Given the description of an element on the screen output the (x, y) to click on. 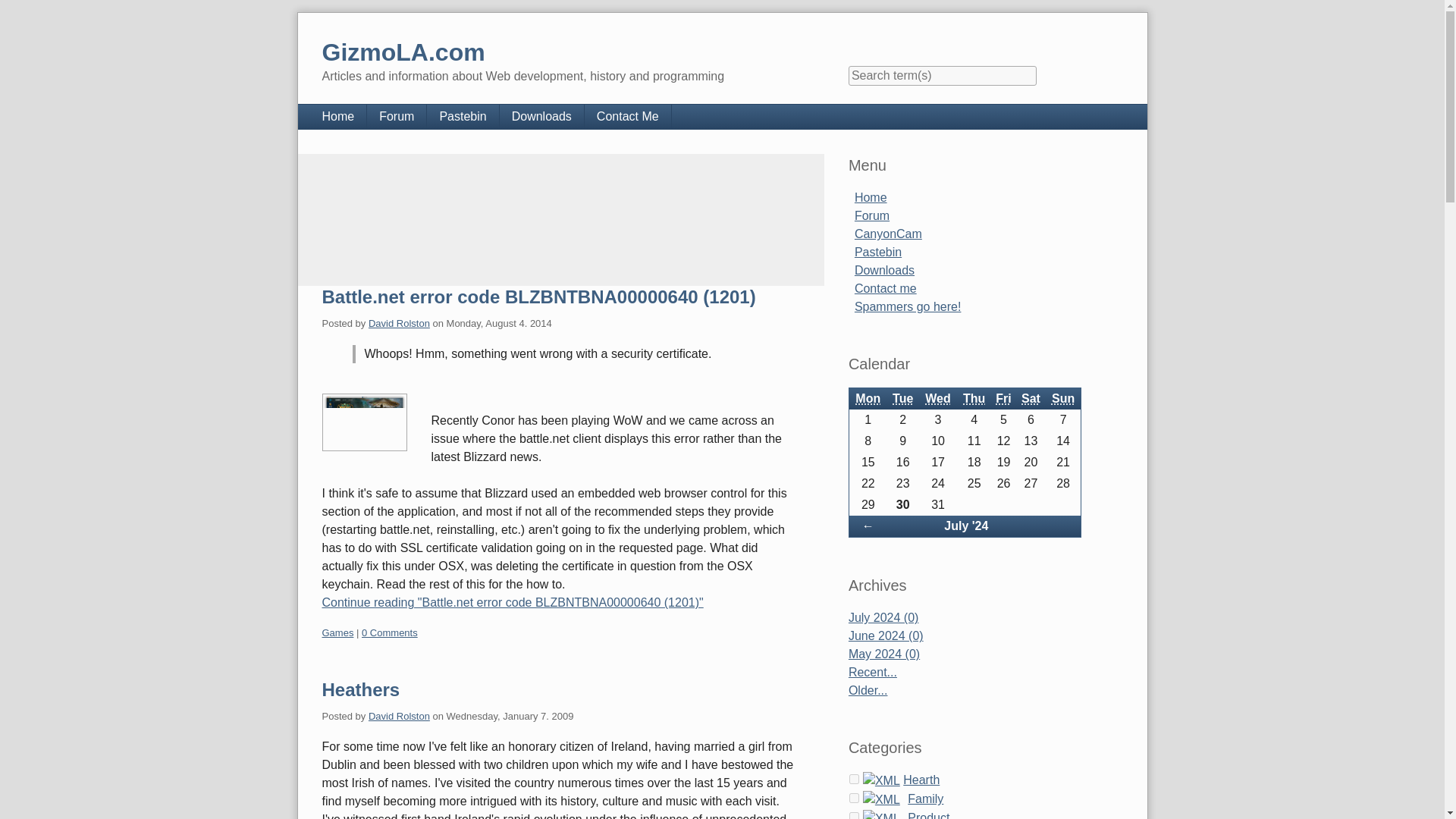
Heathers (359, 689)
0 Comments (389, 632)
Contact Me (628, 116)
David Rolston (398, 715)
Forum (396, 116)
5 (854, 798)
Games (337, 632)
Whoops! (363, 422)
David Rolston (398, 323)
2 (854, 778)
0 Comments, 0 Trackbacks (389, 632)
Home (337, 116)
